Given the description of an element on the screen output the (x, y) to click on. 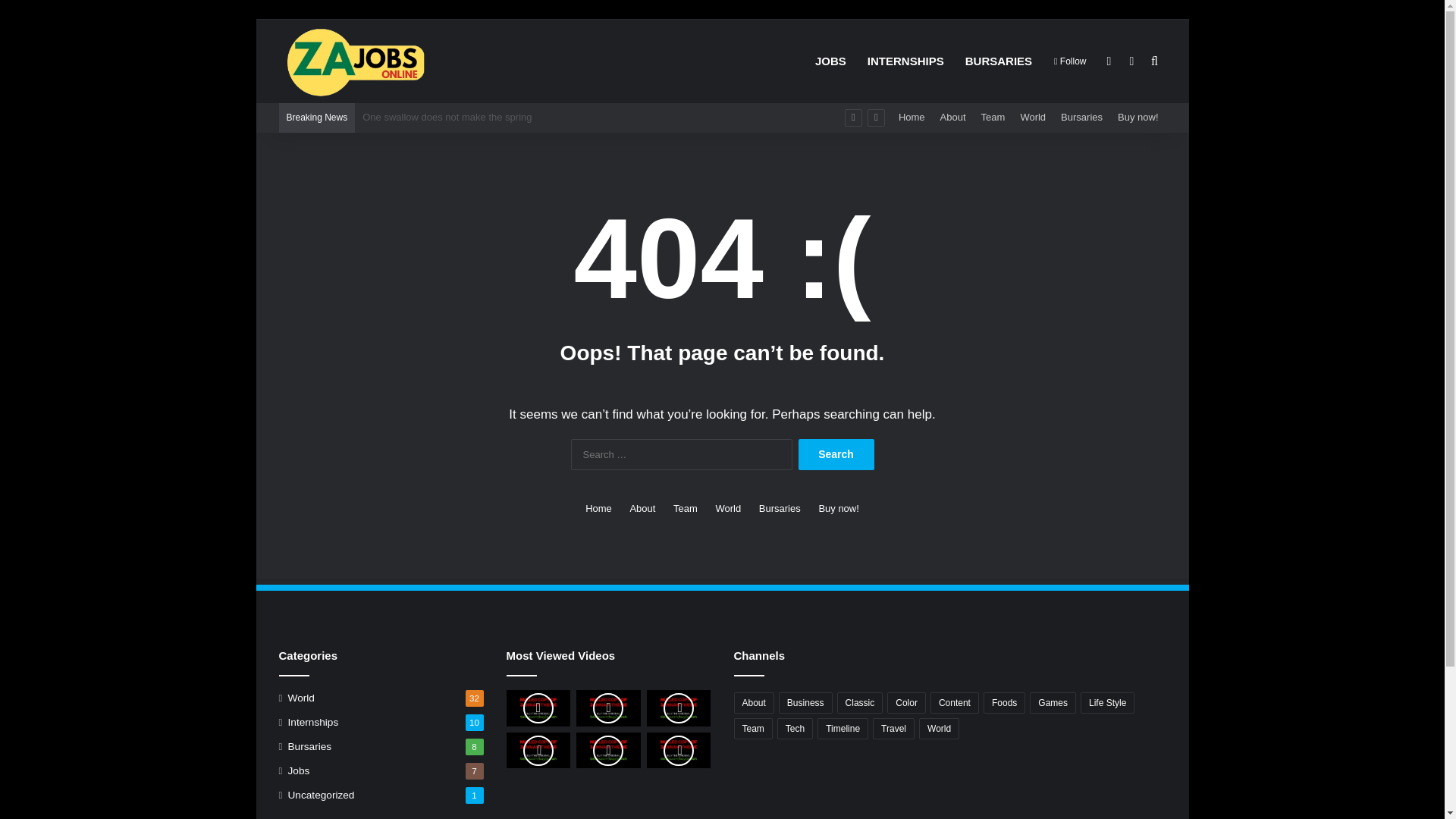
Buy now! (1137, 117)
Team (684, 508)
Home (912, 117)
Buy now! (838, 508)
Search (835, 454)
Bursaries (309, 746)
World (301, 697)
Bursaries (779, 508)
World (1031, 117)
Buy now! (1137, 117)
World (727, 508)
Team (993, 117)
Bursaries (1080, 117)
Buy now! (838, 508)
About (753, 702)
